Given the description of an element on the screen output the (x, y) to click on. 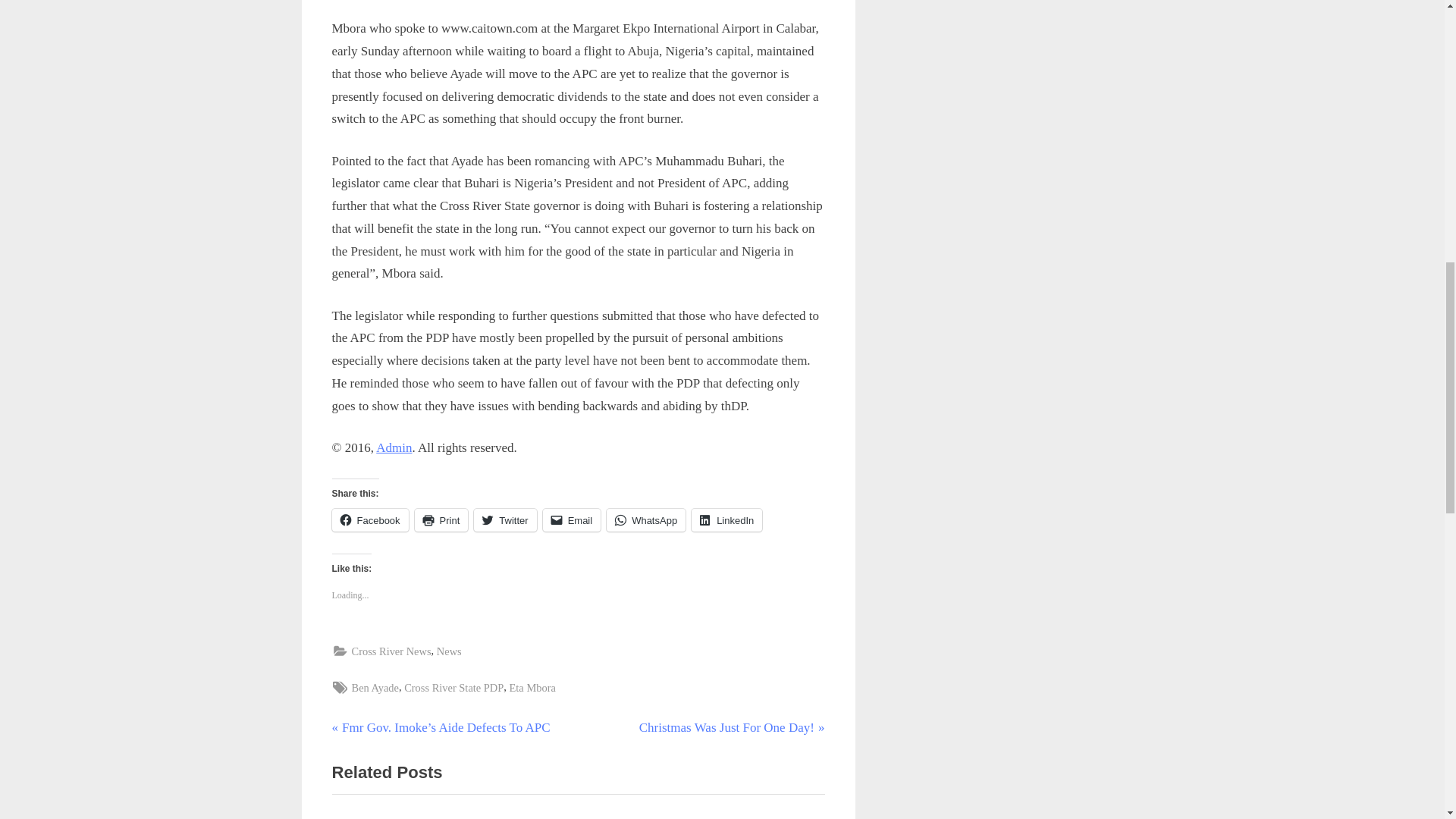
Click to share on WhatsApp (646, 519)
Click to share on Twitter (504, 519)
Click to email a link to a friend (572, 519)
Click to print (441, 519)
Click to share on Facebook (370, 519)
Click to share on LinkedIn (726, 519)
